Given the description of an element on the screen output the (x, y) to click on. 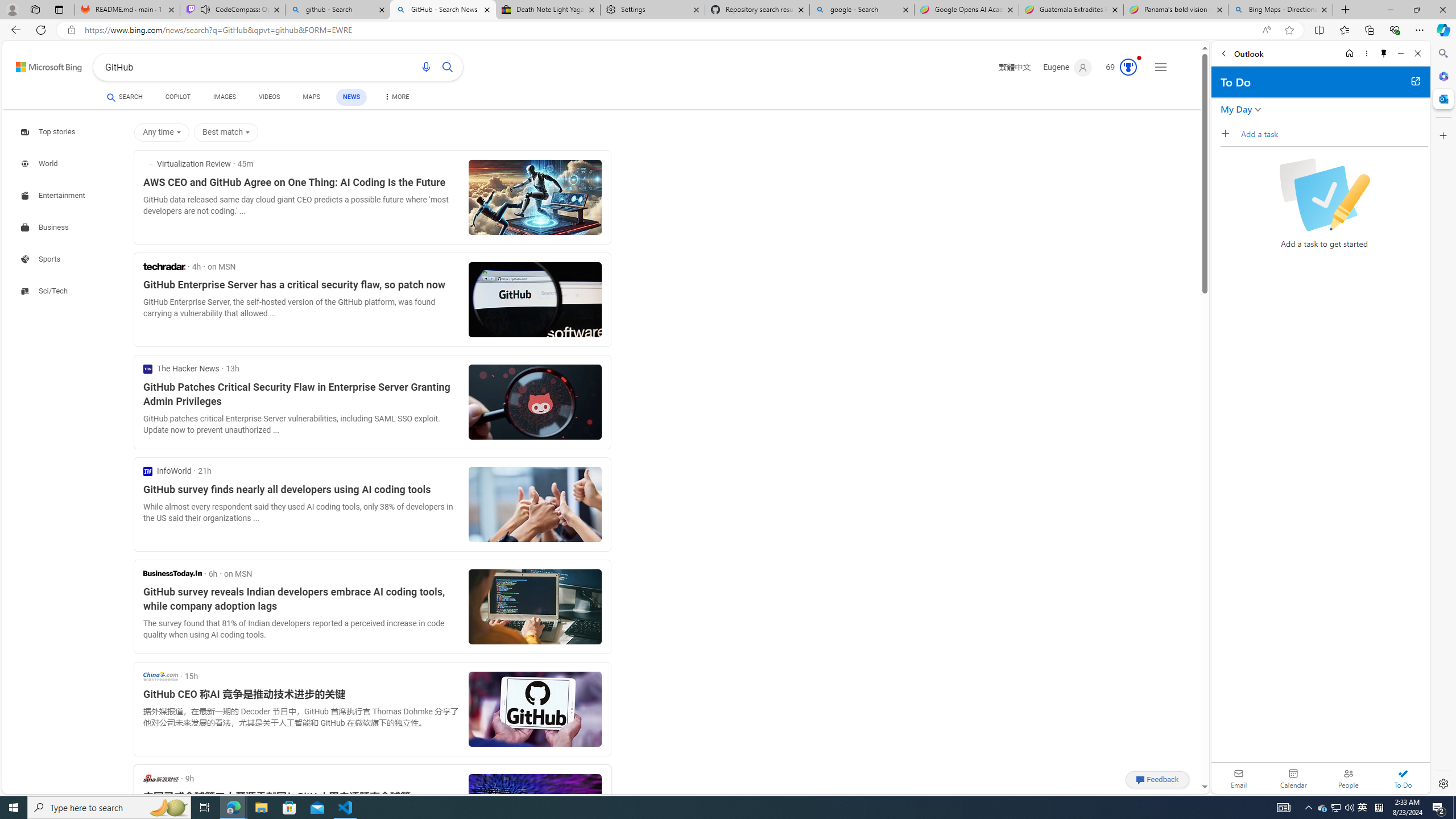
Back to Bing search (41, 64)
Search news about Sports (41, 258)
